Given the description of an element on the screen output the (x, y) to click on. 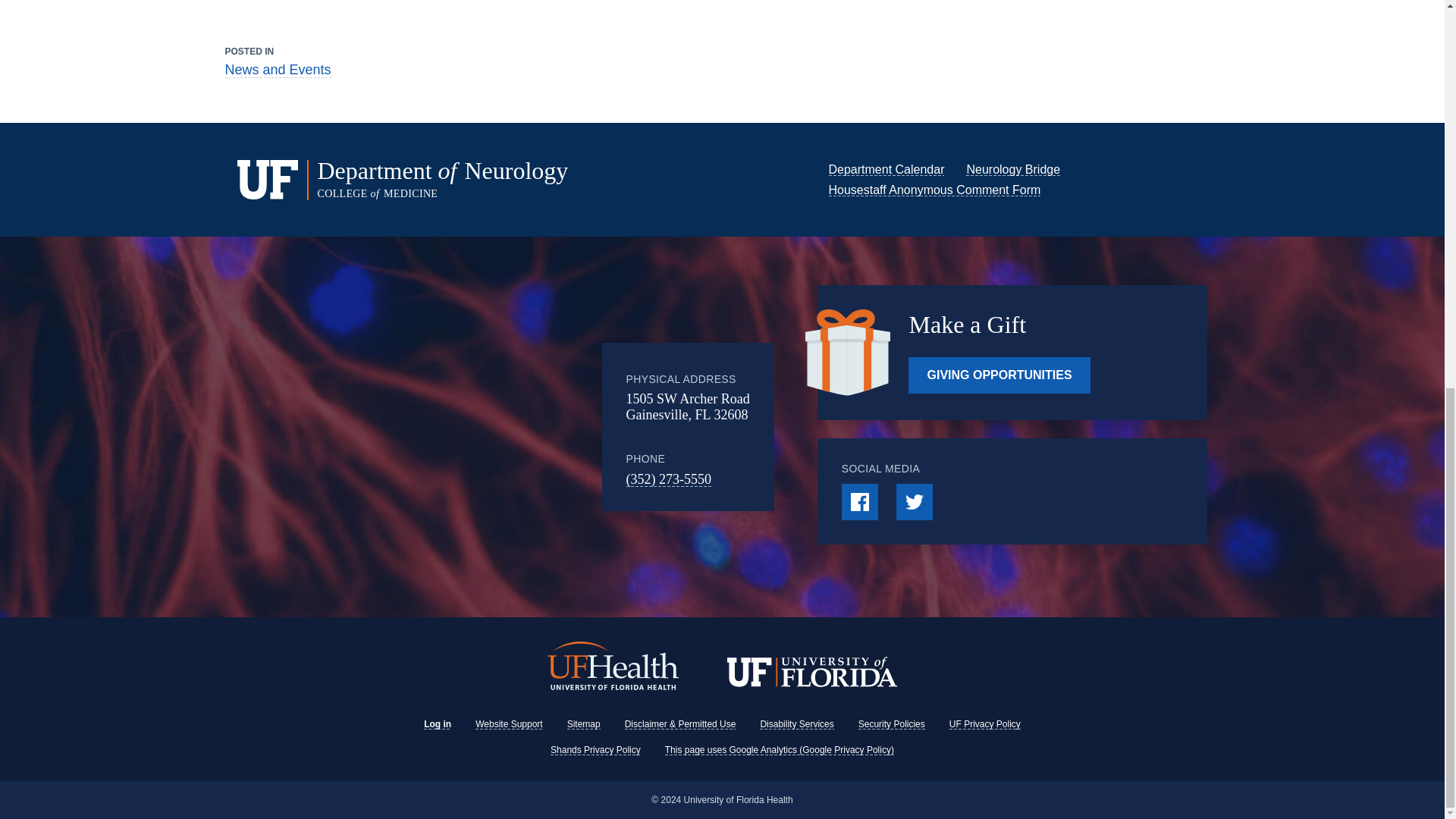
Disability Services (796, 724)
UF Privacy Policy (984, 724)
Sitemap (583, 724)
Log in (437, 724)
Google Maps Embed (477, 426)
Website Support (509, 724)
Department Calendar (885, 169)
Security Policies (891, 724)
Neurology Bridge (1012, 169)
Housestaff Anonymous Comment Form (934, 189)
Shands Privacy Policy (595, 749)
